Given the description of an element on the screen output the (x, y) to click on. 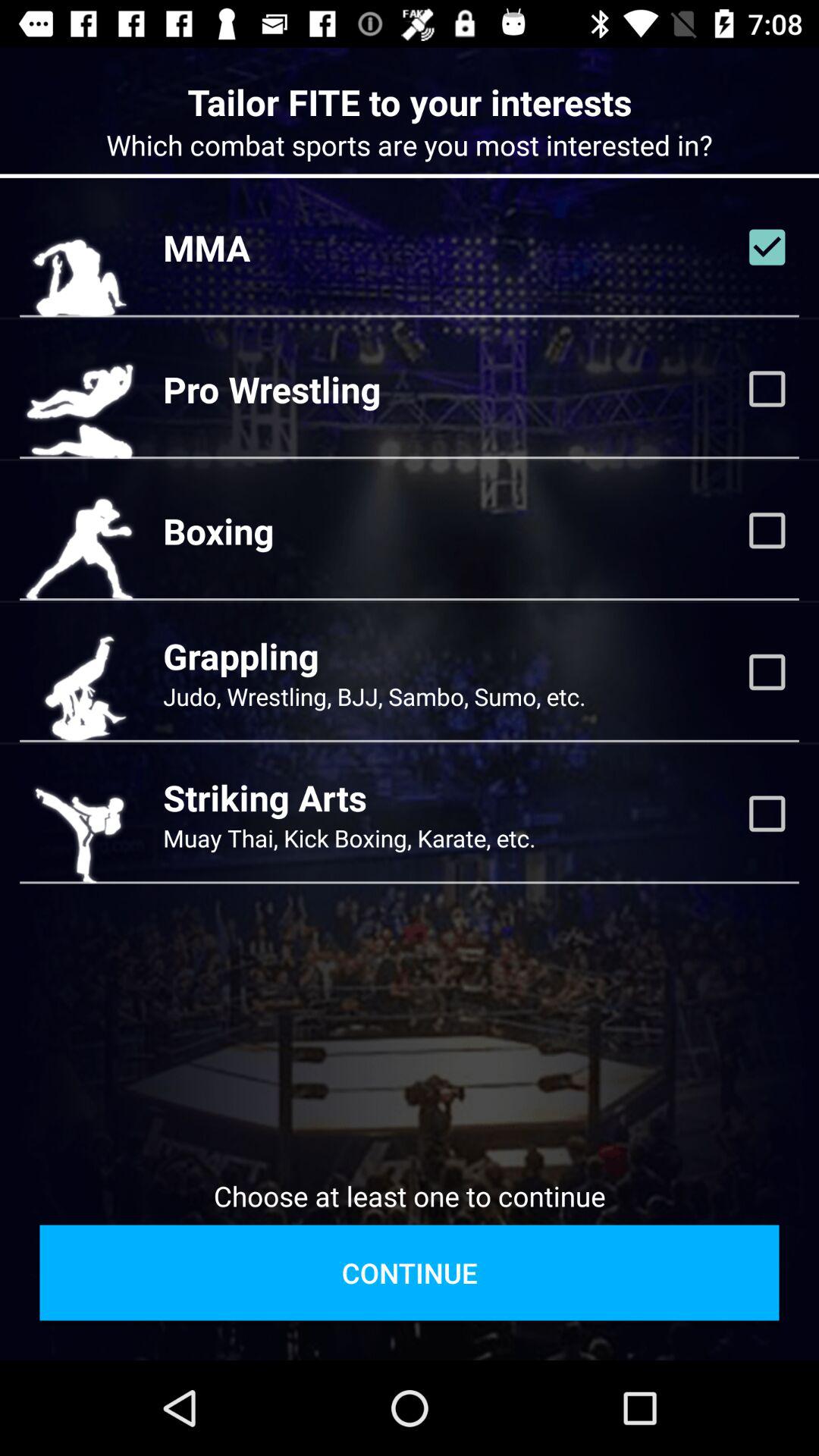
tap mma icon (206, 247)
